Given the description of an element on the screen output the (x, y) to click on. 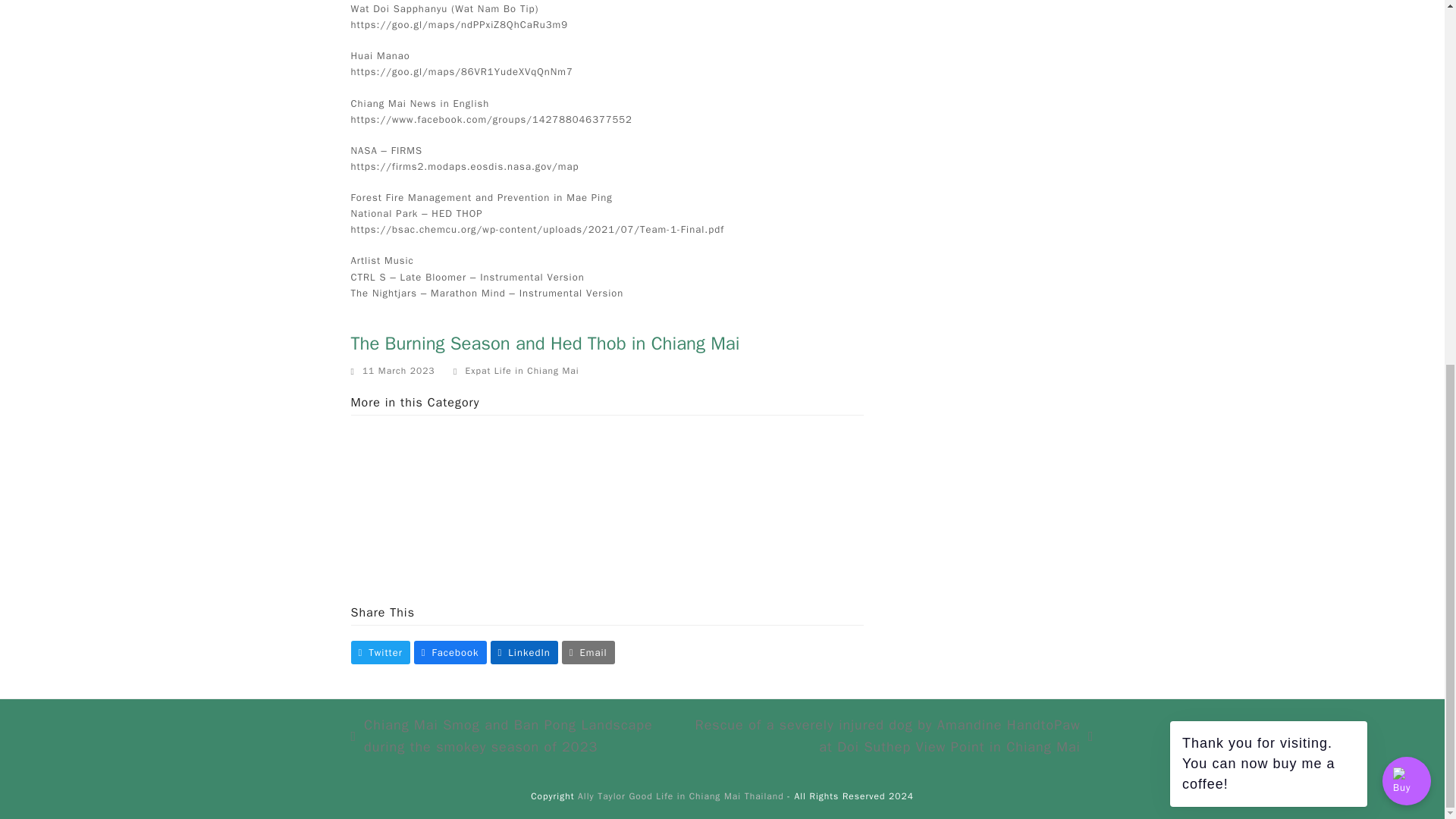
Facebook (449, 652)
LinkedIn (523, 652)
Twitter (379, 652)
Expat Life in Chiang Mai (522, 371)
Ally Taylor Good Life in Chiang Mai Thailand (681, 796)
Thailand Visa Extension Renewal for Retirement in 2023 (673, 487)
